Given the description of an element on the screen output the (x, y) to click on. 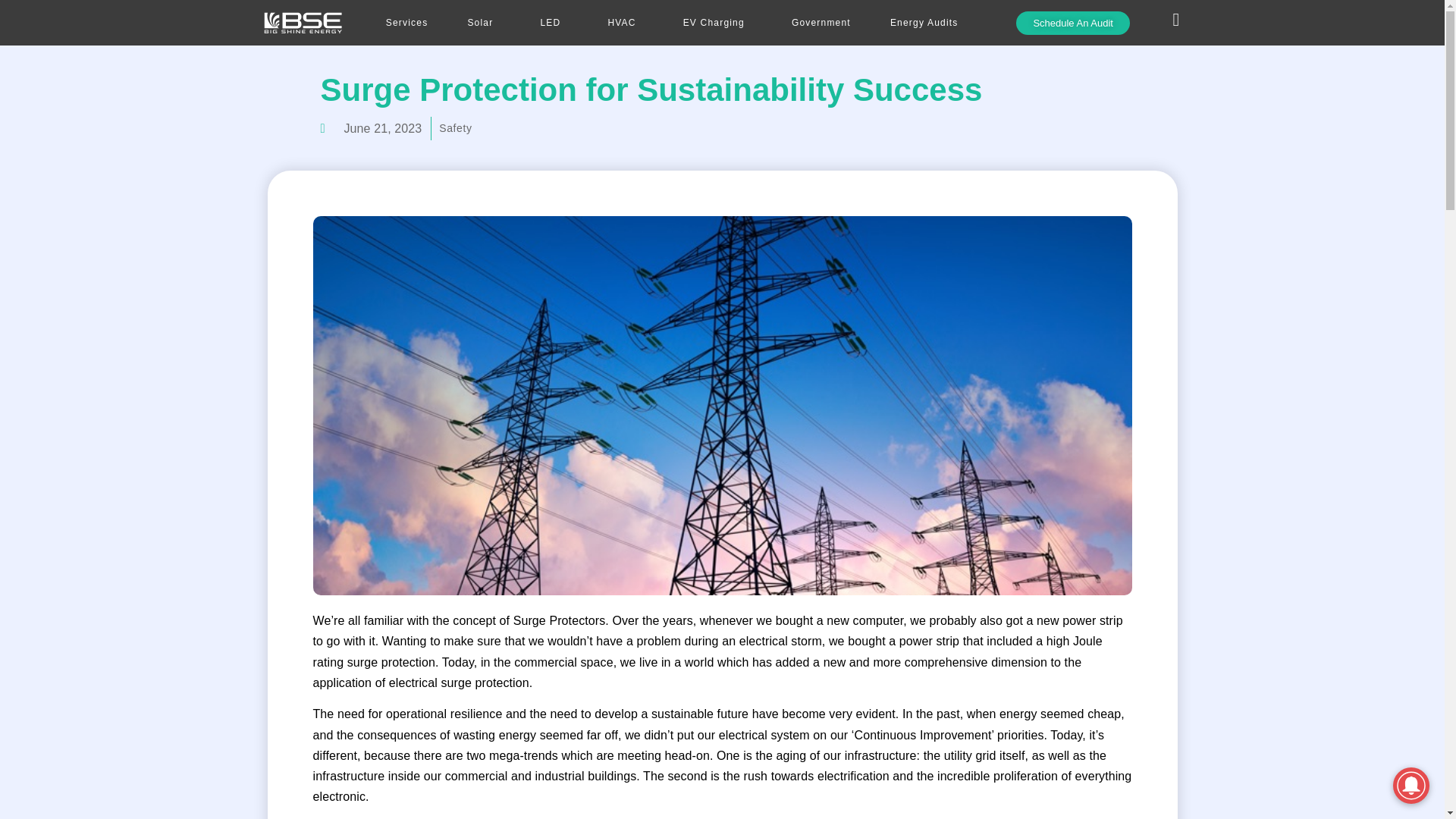
EV Charging (716, 22)
HVAC (624, 22)
Energy Audits (927, 22)
Government (820, 22)
Services (406, 22)
LED (553, 22)
Solar (483, 22)
